Given the description of an element on the screen output the (x, y) to click on. 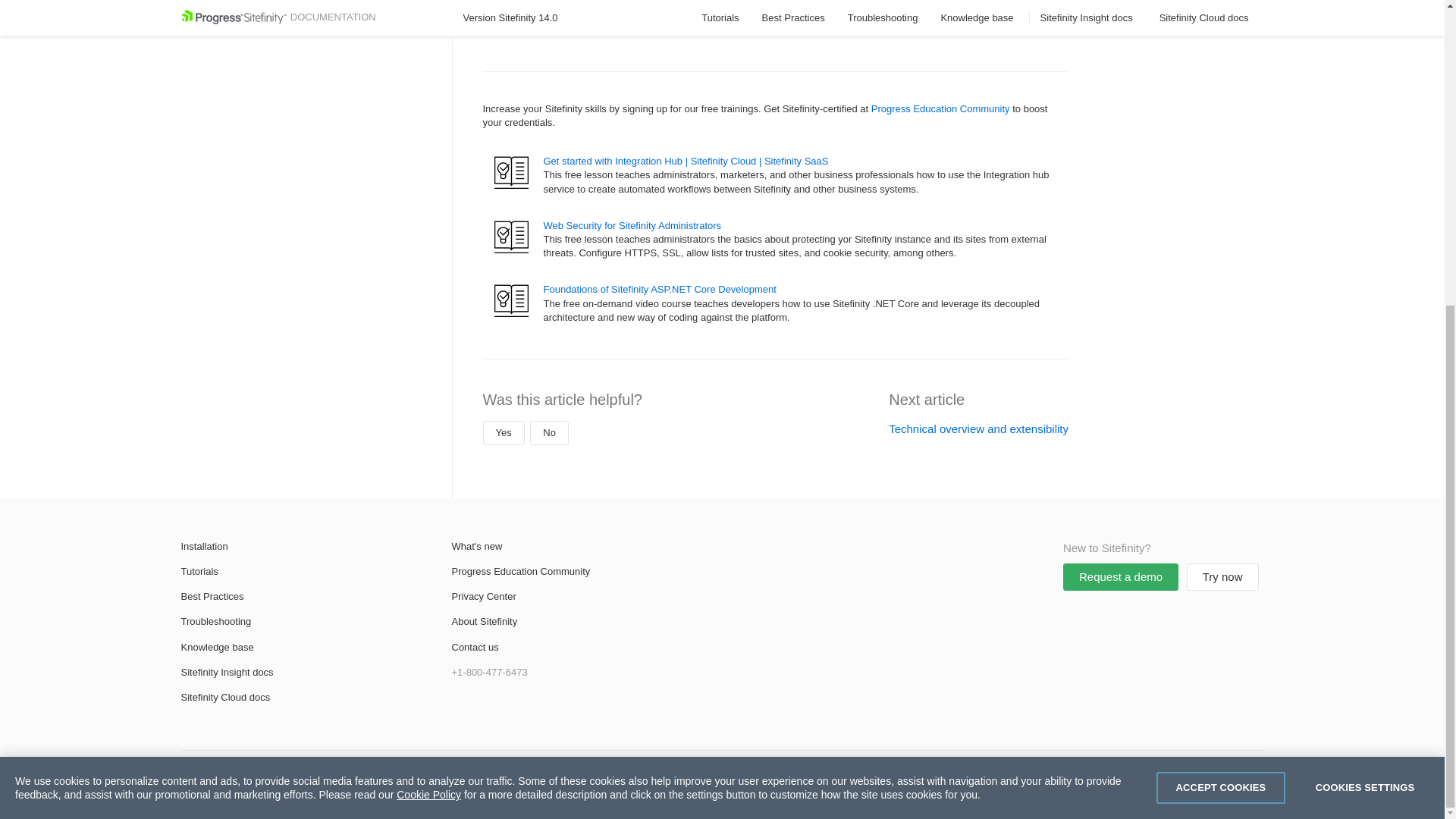
No (549, 432)
Foundations of Sitefinity ASP.NET Core Development (659, 288)
Web Security for Sitefinity Administrators (631, 225)
Yes (502, 432)
Progress Education Community (940, 108)
